Given the description of an element on the screen output the (x, y) to click on. 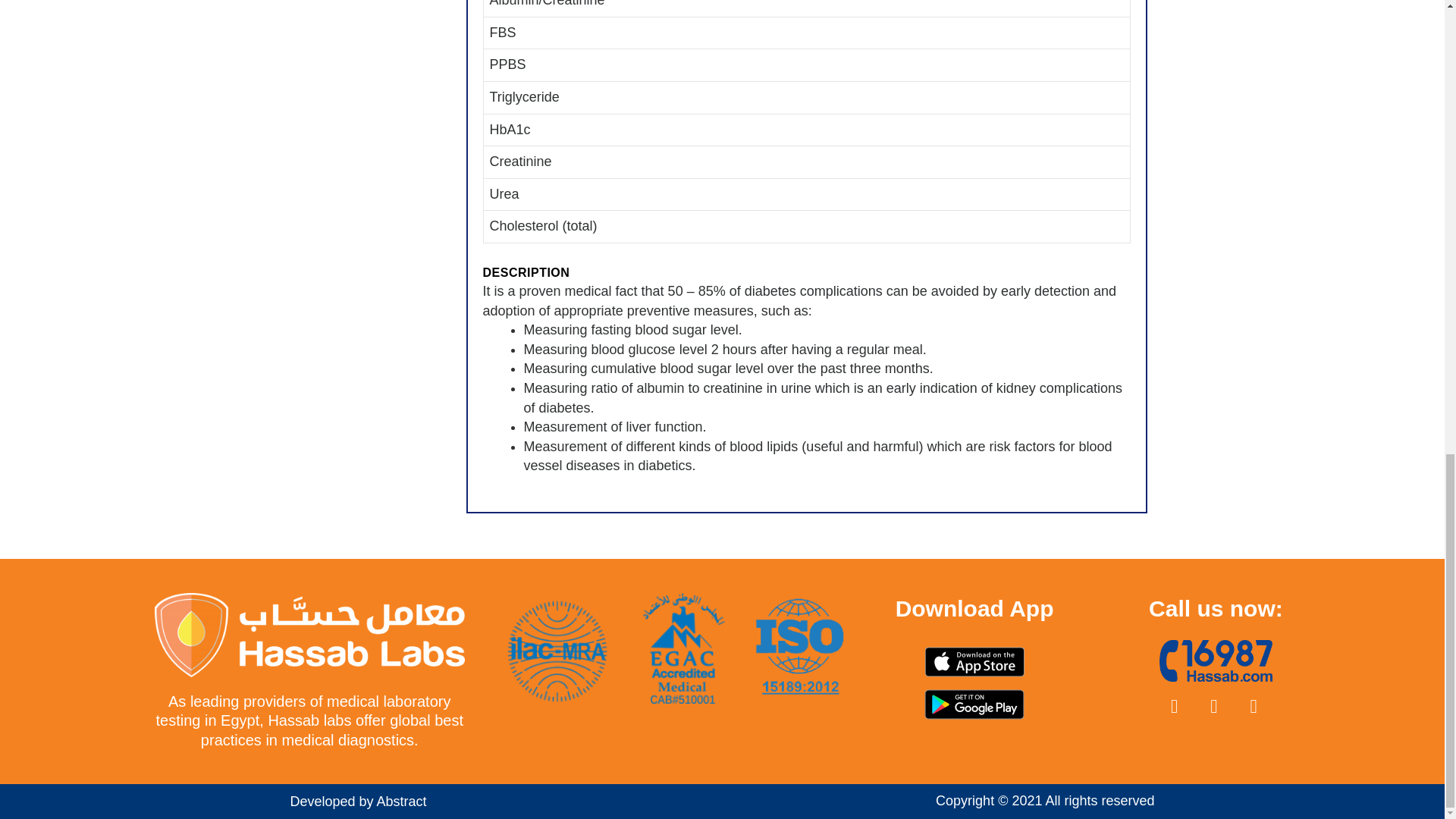
Abstract (401, 801)
